Given the description of an element on the screen output the (x, y) to click on. 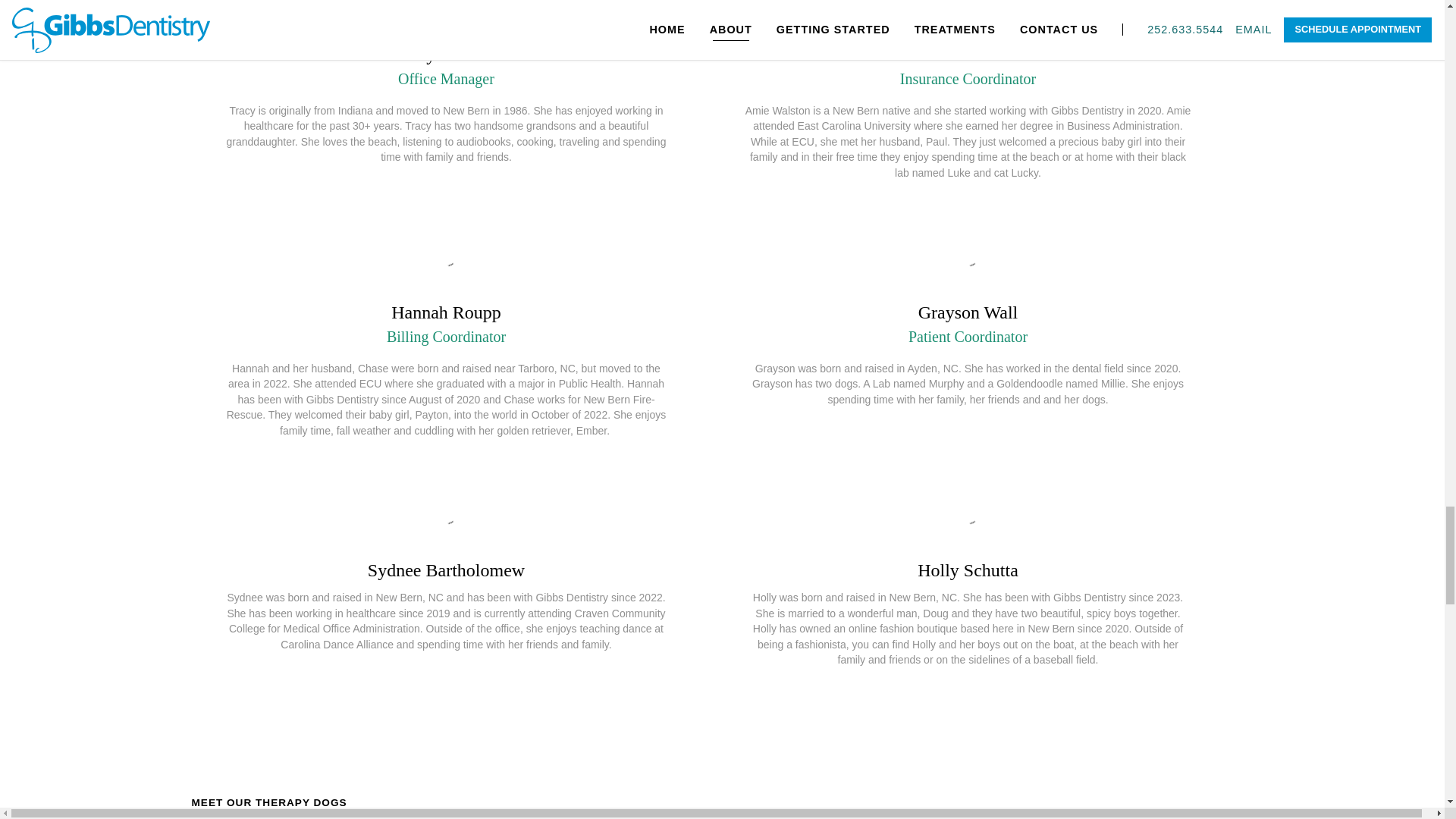
loading spinner icon (444, 4)
